Given the description of an element on the screen output the (x, y) to click on. 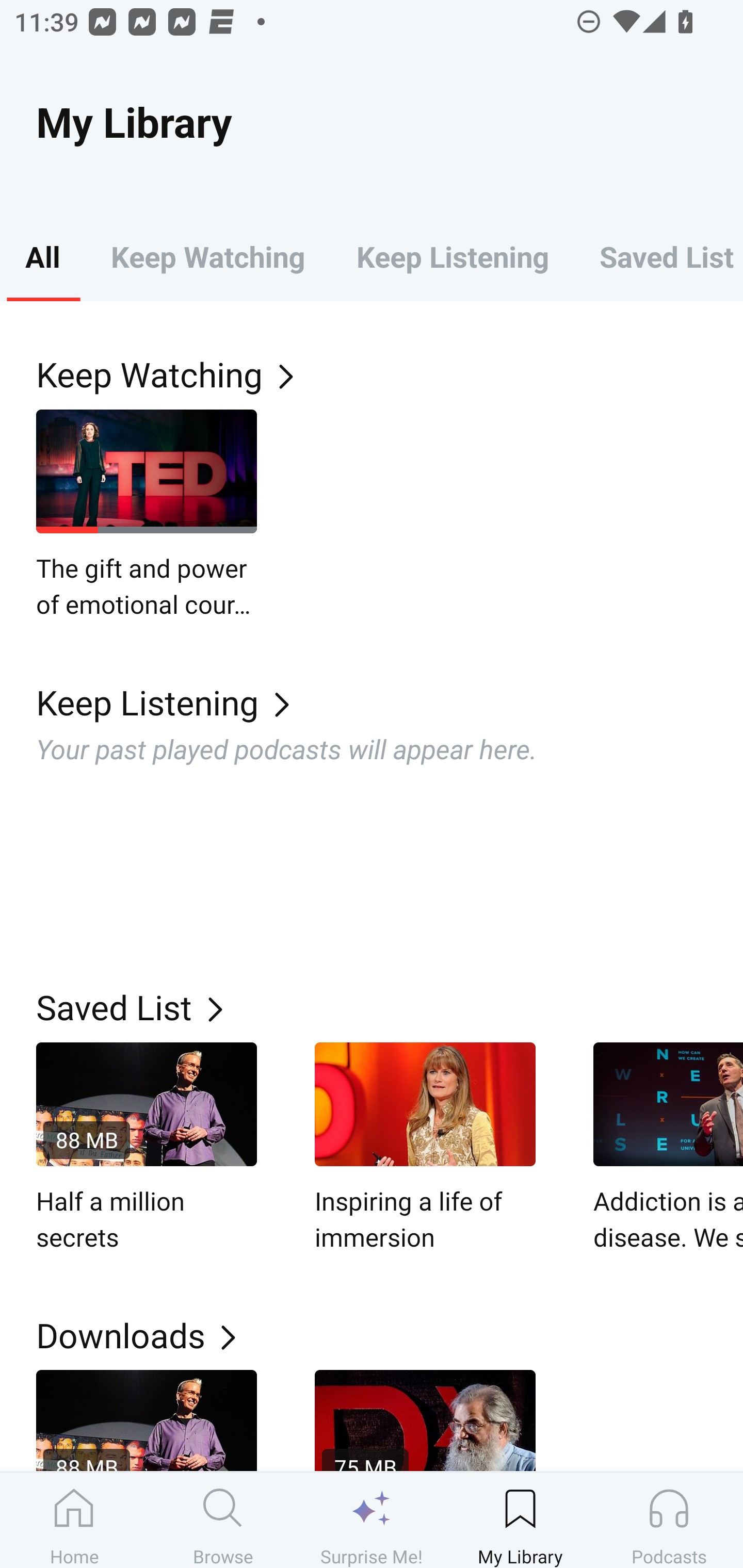
All (42, 256)
Keep Watching (207, 256)
Keep Listening (452, 256)
Saved List (658, 256)
Keep Watching (389, 373)
The gift and power of emotional courage (146, 514)
Keep Listening (389, 702)
Saved List (389, 1007)
88 MB Half a million secrets (146, 1148)
Inspiring a life of immersion (425, 1148)
Downloads (389, 1334)
88 MB (146, 1420)
75 MB (425, 1420)
Home (74, 1520)
Browse (222, 1520)
Surprise Me! (371, 1520)
My Library (519, 1520)
Podcasts (668, 1520)
